Given the description of an element on the screen output the (x, y) to click on. 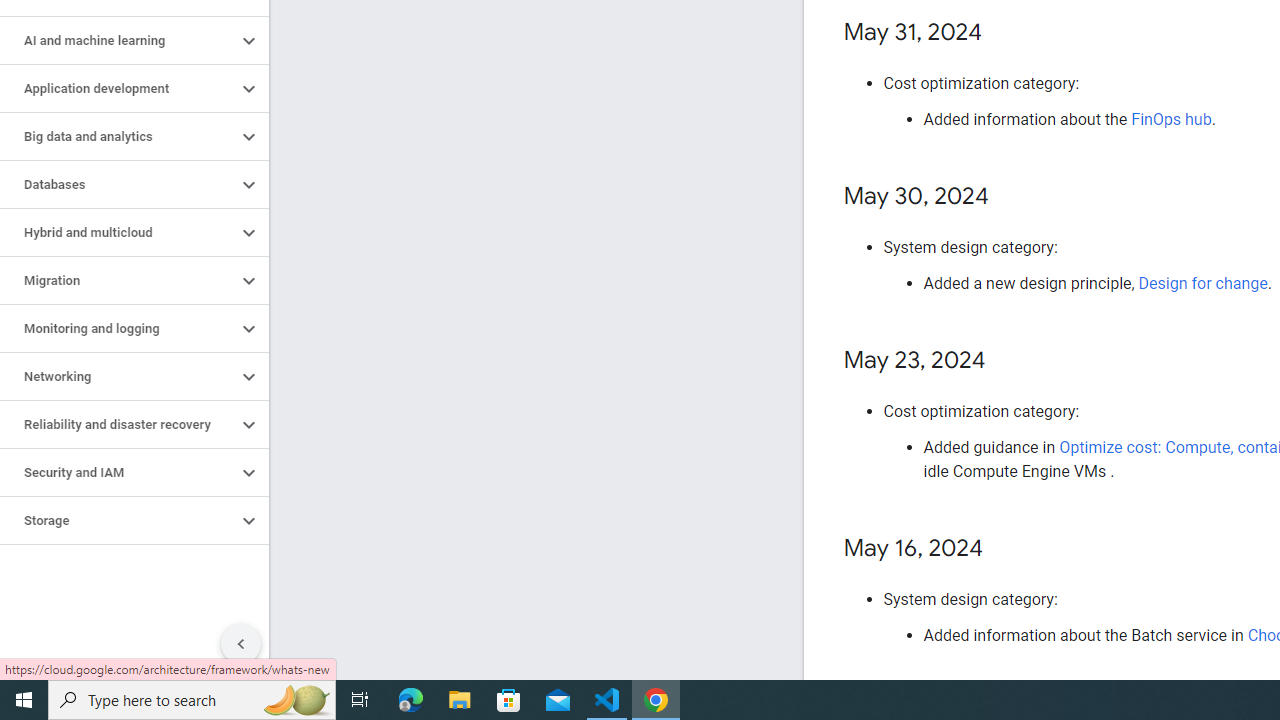
Storage (118, 520)
Copy link to this section: May 16, 2024 (1003, 549)
Reliability and disaster recovery (118, 425)
Big data and analytics (118, 137)
Copy link to this section: May 30, 2024 (1008, 197)
Hybrid and multicloud (118, 232)
FinOps hub (1171, 119)
Databases (118, 184)
Design for change (1202, 283)
Application development (118, 88)
Migration (118, 281)
Hide side navigation (241, 643)
Copy link to this section: May 31, 2024 (1001, 33)
Security and IAM (118, 472)
